Given the description of an element on the screen output the (x, y) to click on. 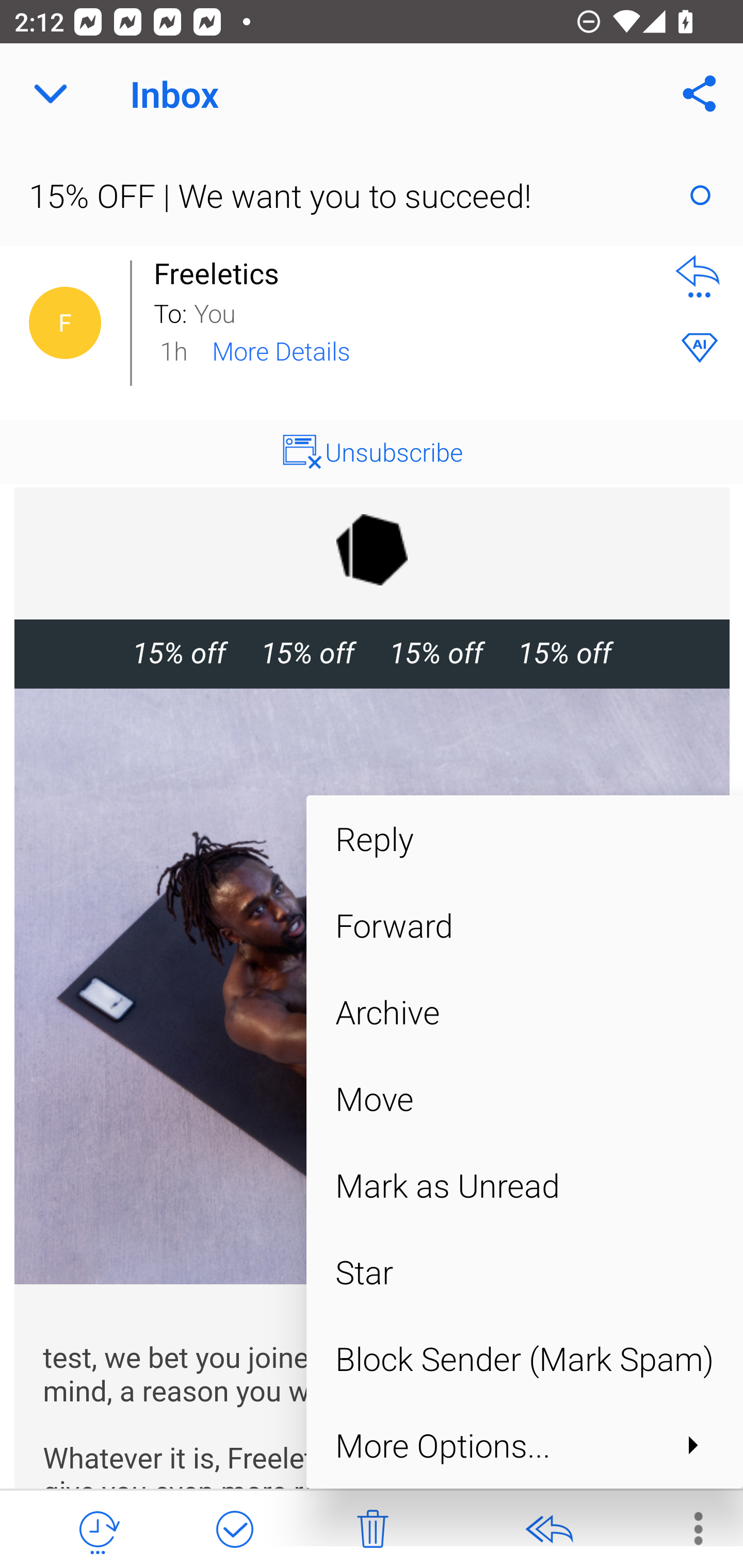
Reply (524, 837)
Forward (524, 925)
Archive (524, 1012)
Move (524, 1098)
Mark as Unread (524, 1185)
Star (524, 1272)
Block Sender (Mark Spam) (524, 1358)
More Options... (524, 1444)
